Given the description of an element on the screen output the (x, y) to click on. 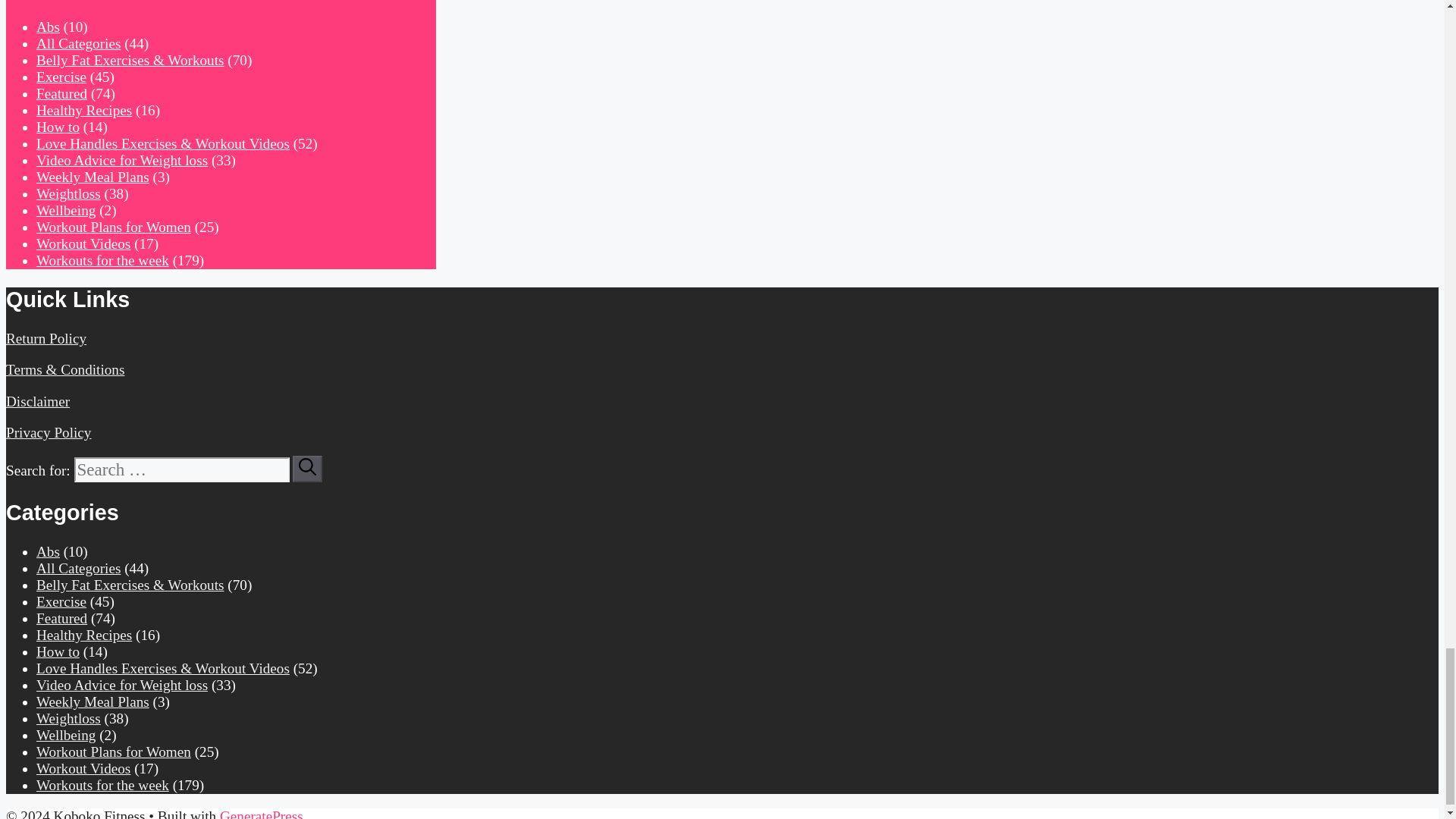
Wellbeing (66, 210)
Workouts for the week (102, 260)
Workout Plans for Women (113, 227)
Search for: (181, 469)
Privacy Policy (47, 432)
All Categories (78, 43)
Featured (61, 93)
How to (58, 126)
Exercise (60, 76)
Weekly Meal Plans (92, 176)
Return Policy (45, 338)
Video Advice for Weight loss (122, 160)
Abs (47, 551)
Workout Videos (83, 243)
Weightloss (68, 193)
